Given the description of an element on the screen output the (x, y) to click on. 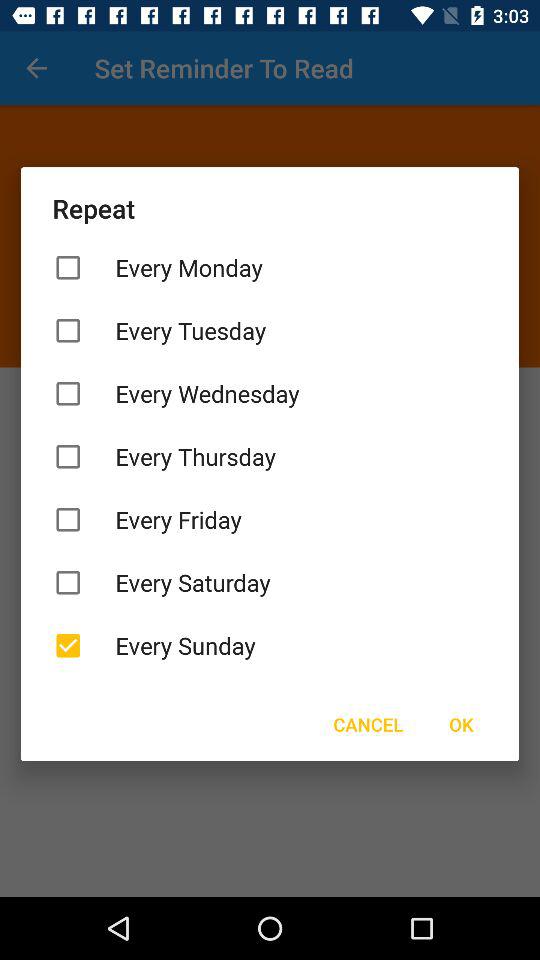
open item below the every monday icon (270, 330)
